Given the description of an element on the screen output the (x, y) to click on. 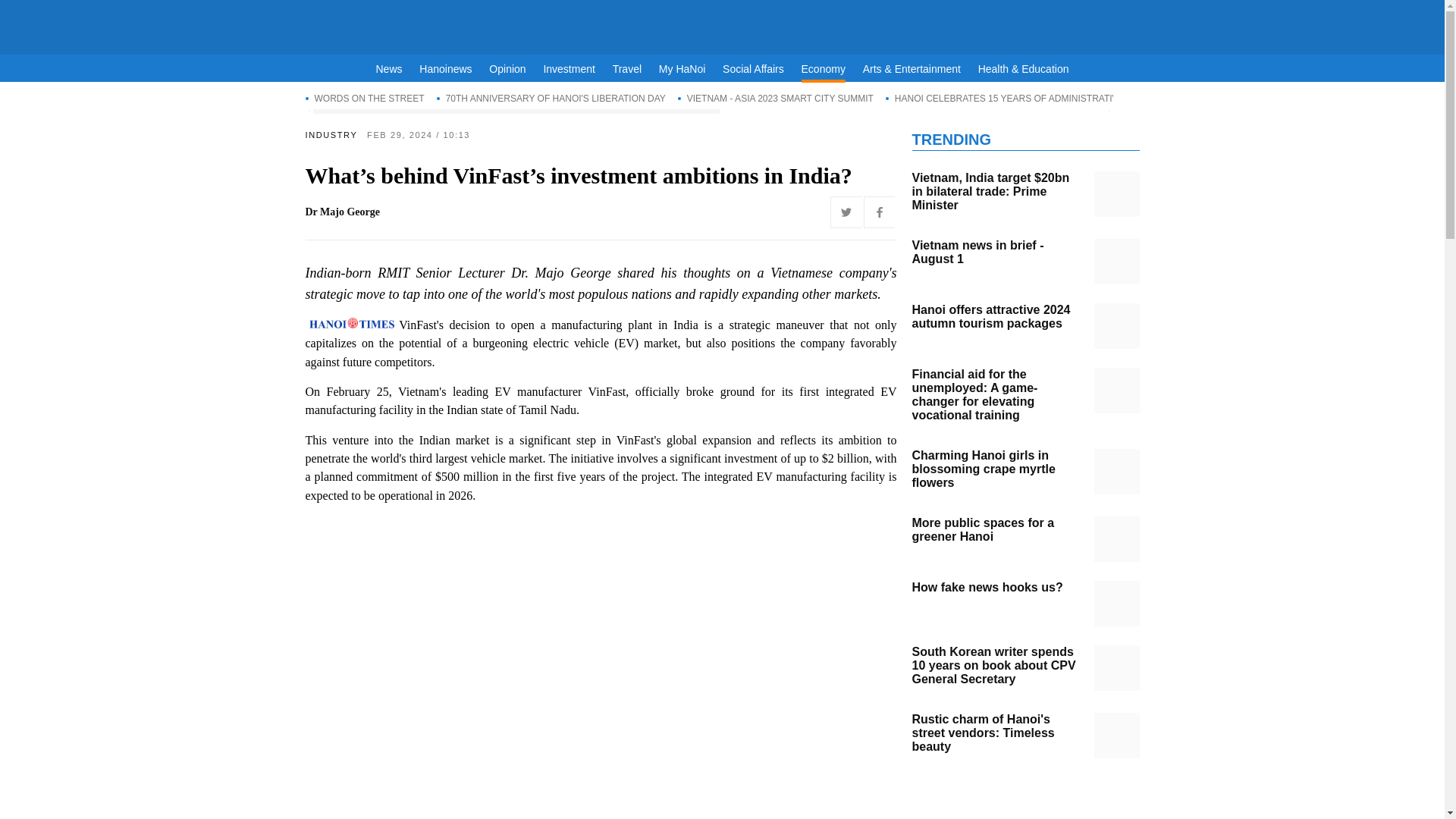
My HaNoi (681, 69)
Vietnam news in brief - August 4 (1115, 261)
News (389, 69)
Social Affairs (753, 69)
Opinion (507, 69)
Hanoinews (445, 69)
Economy (823, 70)
Short-lived fame: The demise of trendy streetfood shops (1115, 390)
Travel (627, 69)
